Given the description of an element on the screen output the (x, y) to click on. 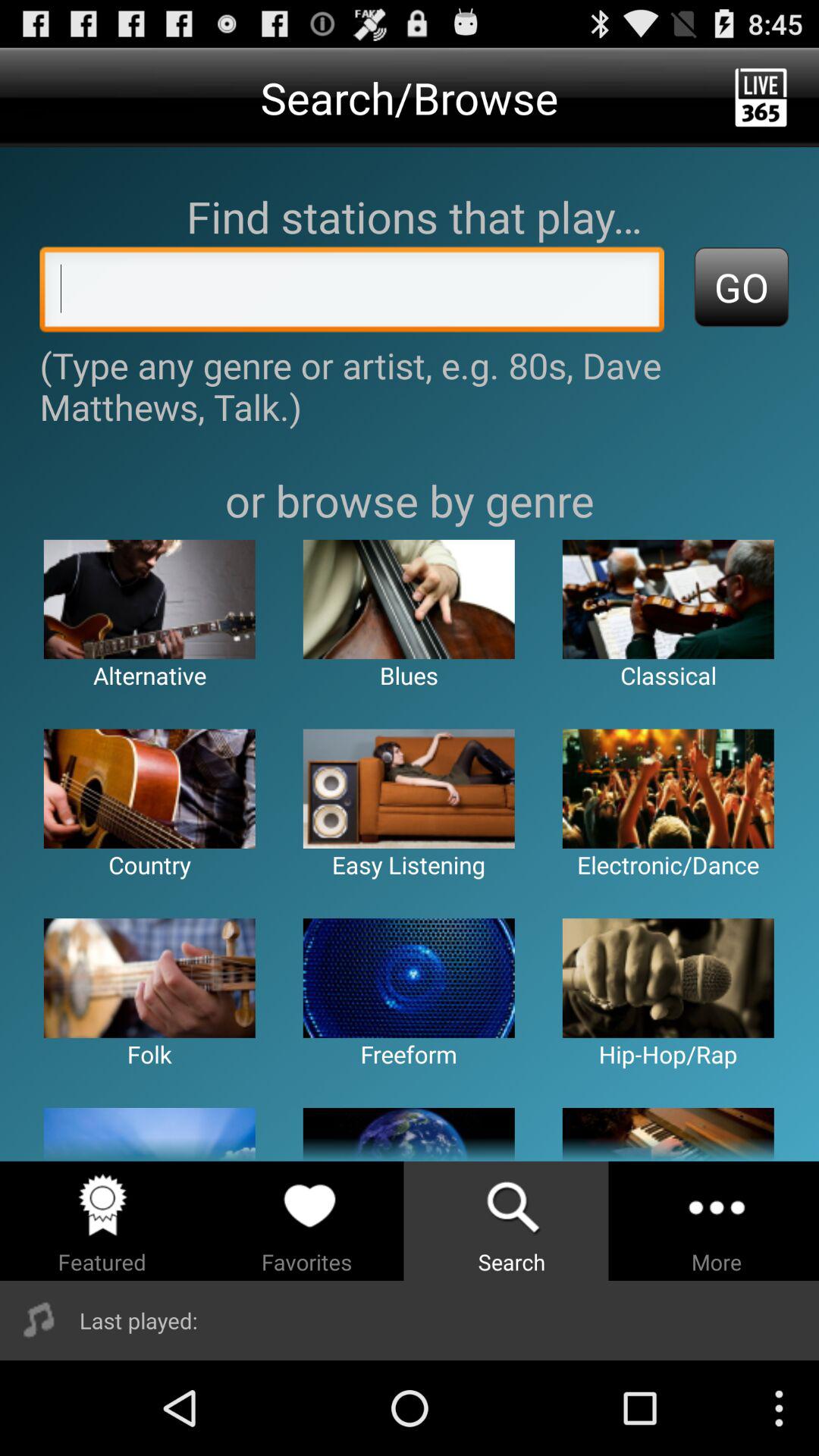
enter genre (351, 293)
